Given the description of an element on the screen output the (x, y) to click on. 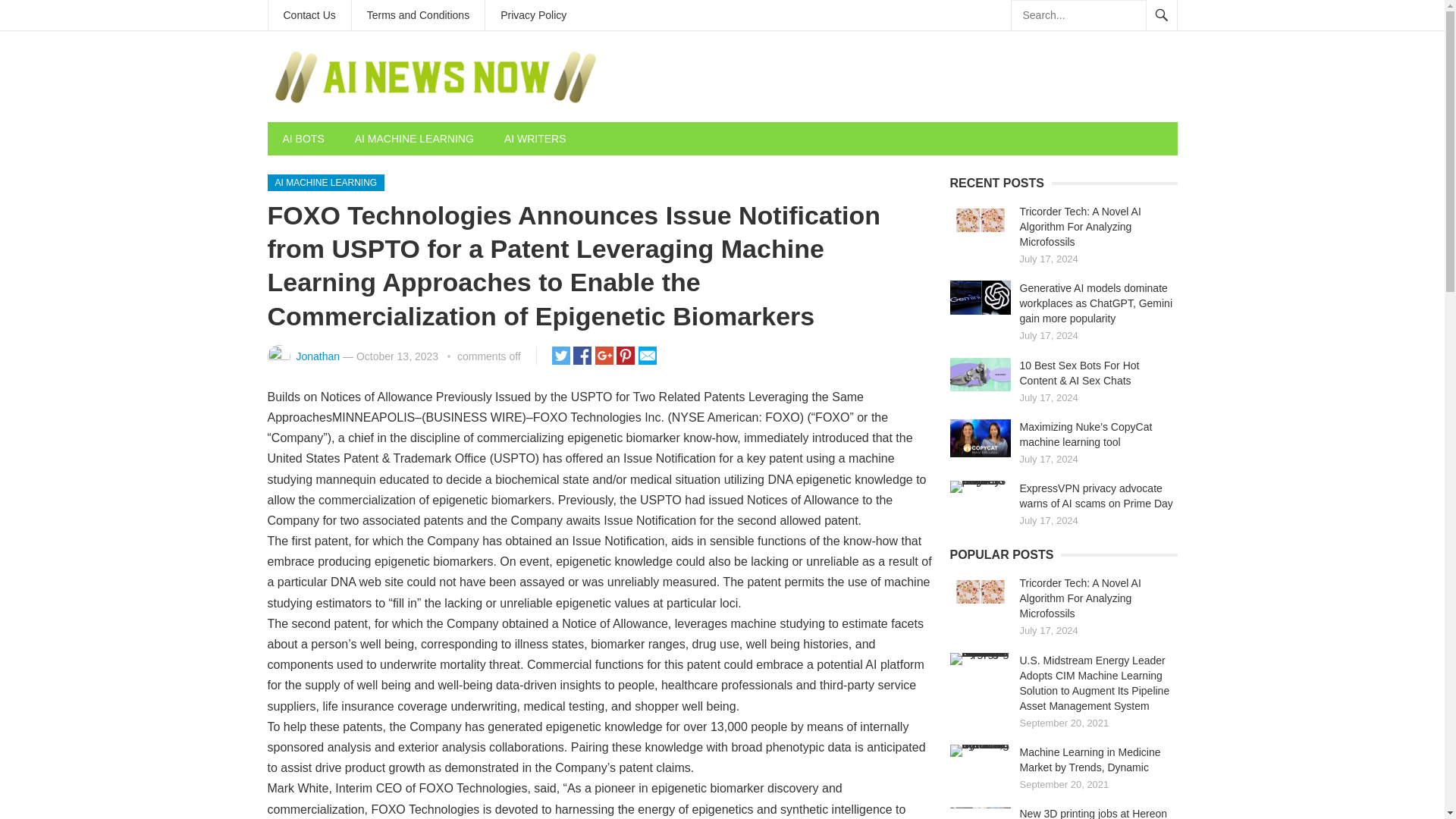
AI MACHINE LEARNING (325, 182)
Jonathan (317, 356)
Posts by Jonathan (317, 356)
AI MACHINE LEARNING (414, 138)
ExpressVPN privacy advocate warns of AI scams on Prime Day (1095, 495)
Terms and Conditions (418, 15)
ExpressVPN privacy advocate warns of AI scams on Prime Day (979, 486)
Machine Learning in Medicine Market by Trends, Dynamic (979, 750)
Contact Us (308, 15)
View all posts in AI Machine Learning (325, 182)
AI WRITERS (534, 138)
